Given the description of an element on the screen output the (x, y) to click on. 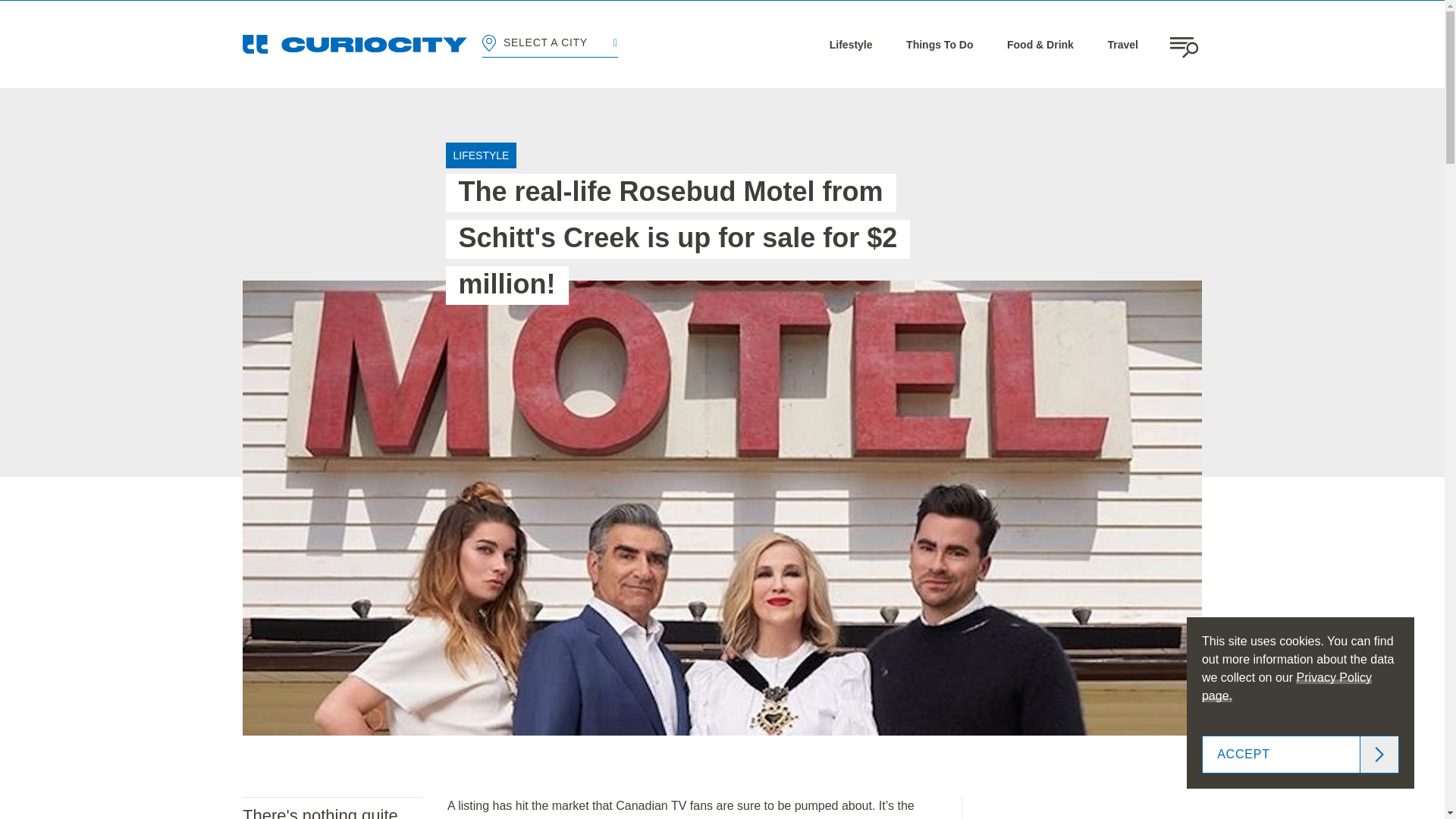
Travel (1121, 44)
Lifestyle (850, 44)
Things To Do (938, 44)
ACCEPT (1300, 754)
SELECT A CITY (549, 44)
goes to Home (355, 43)
Privacy Policy page. (1286, 685)
